Given the description of an element on the screen output the (x, y) to click on. 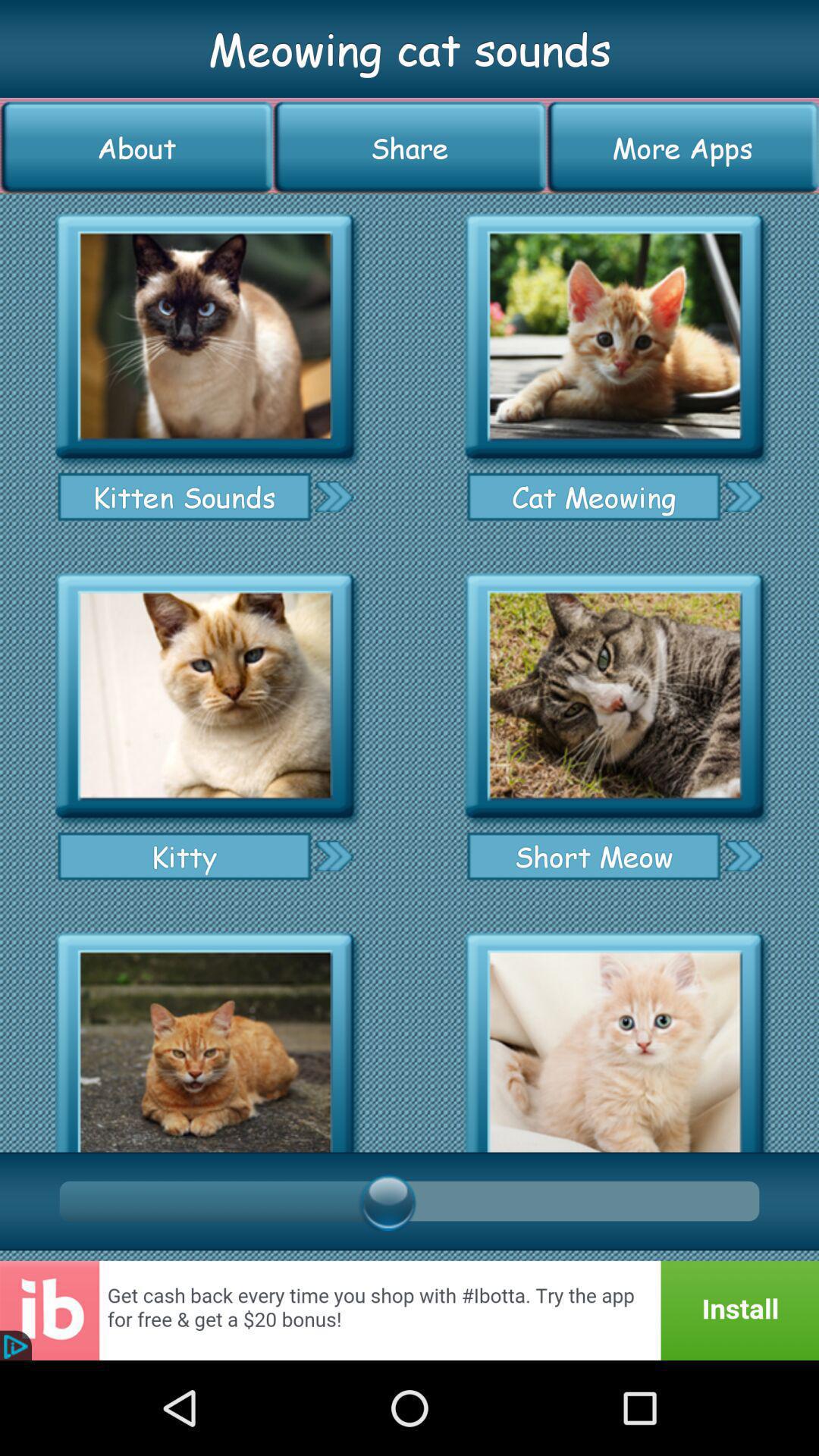
come back (409, 1310)
